Given the description of an element on the screen output the (x, y) to click on. 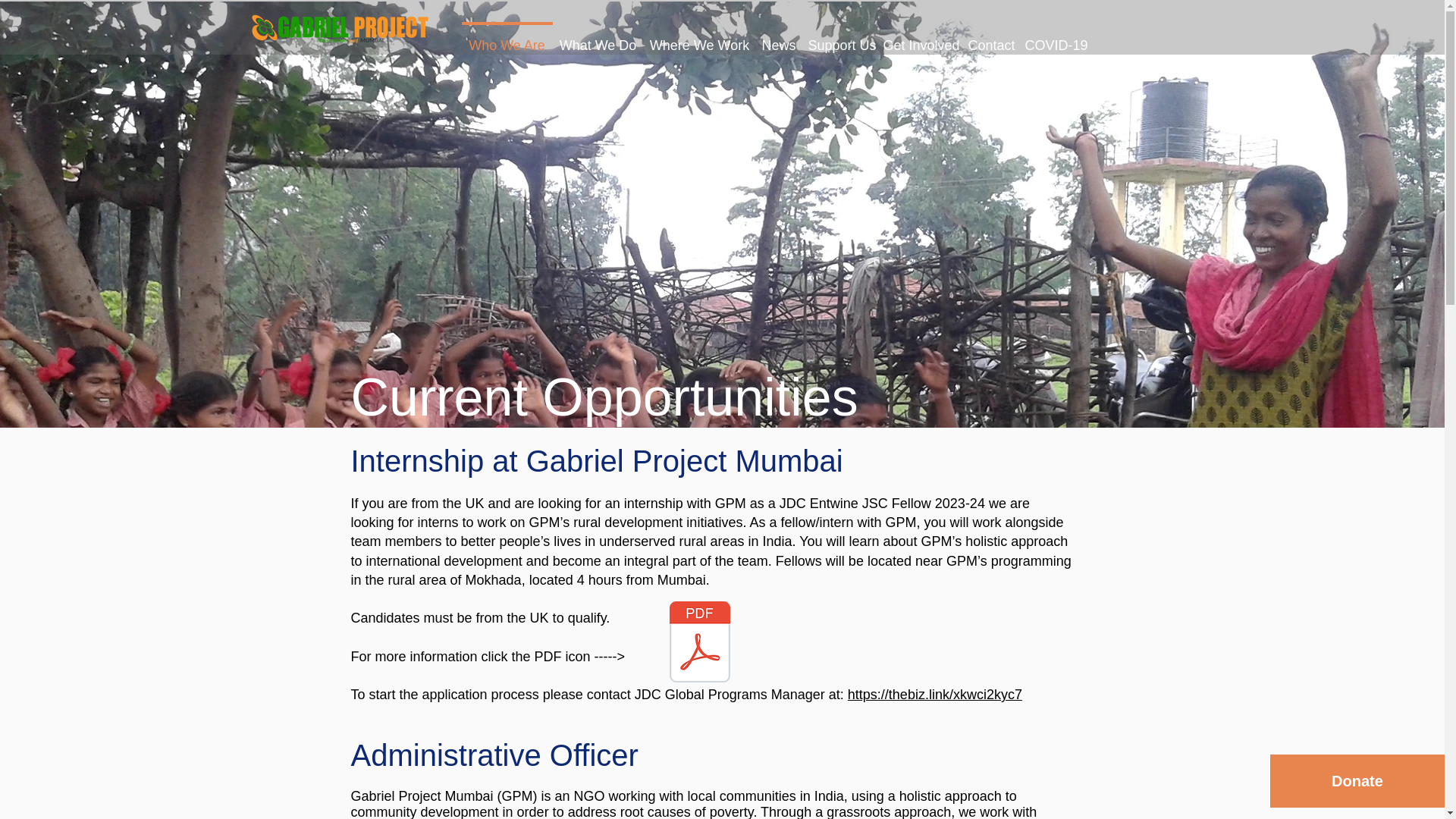
Get Involved (918, 39)
Who We Are (506, 39)
Where We Work (699, 39)
Support Us (839, 39)
What We Do (597, 39)
Contact (988, 39)
News (778, 39)
COVID-19 (1054, 39)
